Given the description of an element on the screen output the (x, y) to click on. 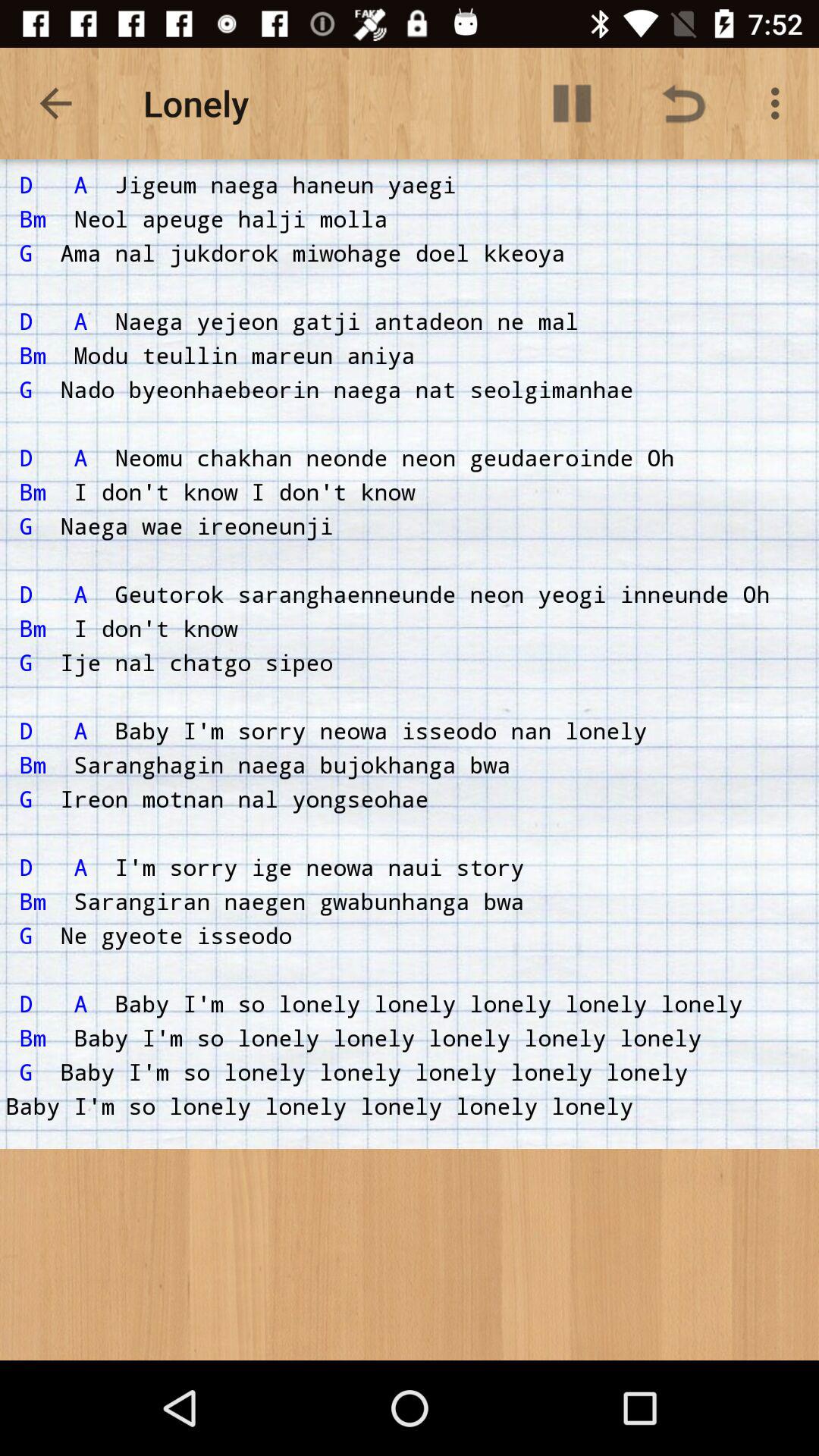
choose icon next to lonely item (571, 103)
